Given the description of an element on the screen output the (x, y) to click on. 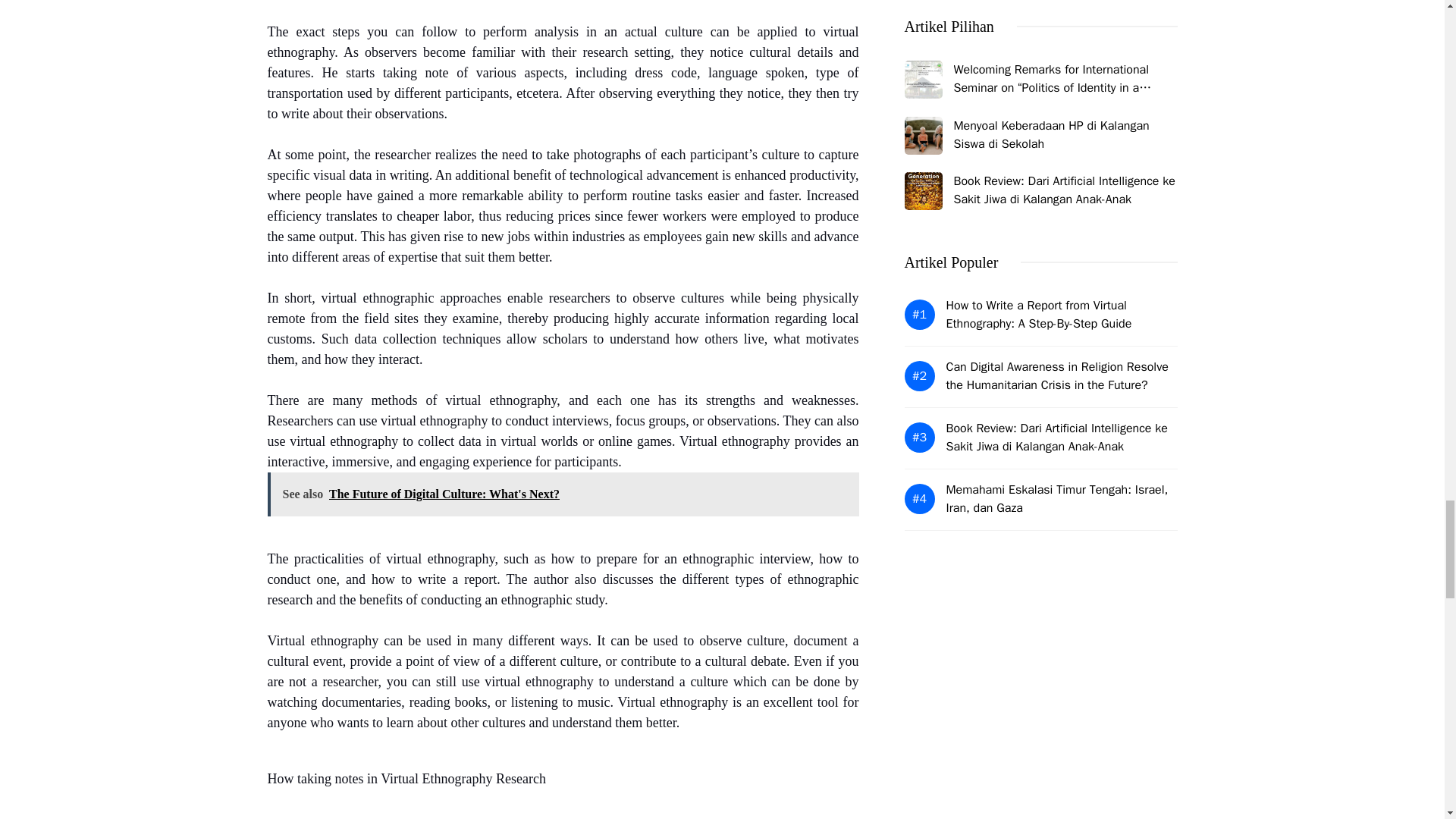
See also  The Future of Digital Culture: What's Next? (562, 494)
